Given the description of an element on the screen output the (x, y) to click on. 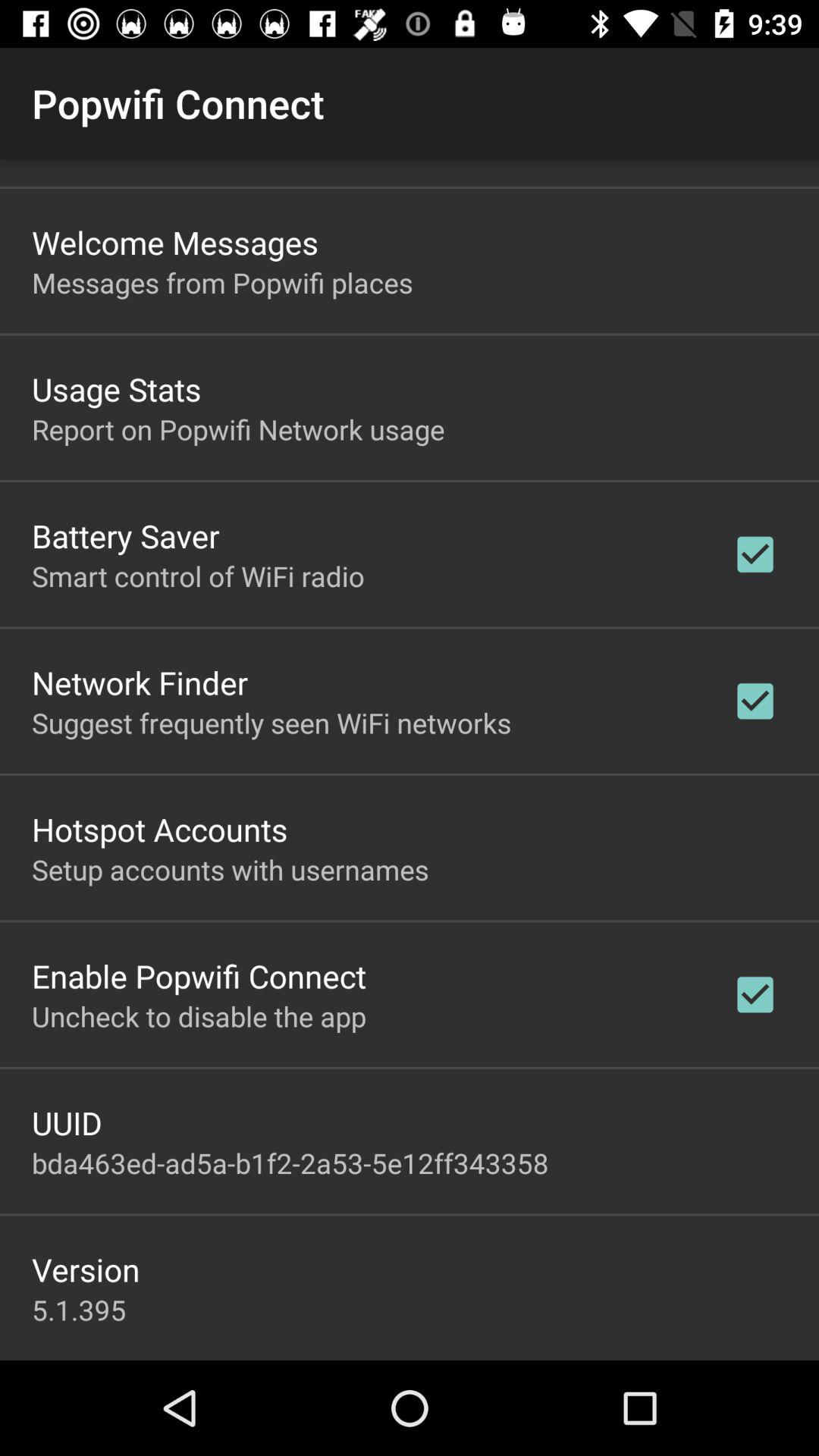
select icon below the uncheck to disable app (66, 1122)
